Given the description of an element on the screen output the (x, y) to click on. 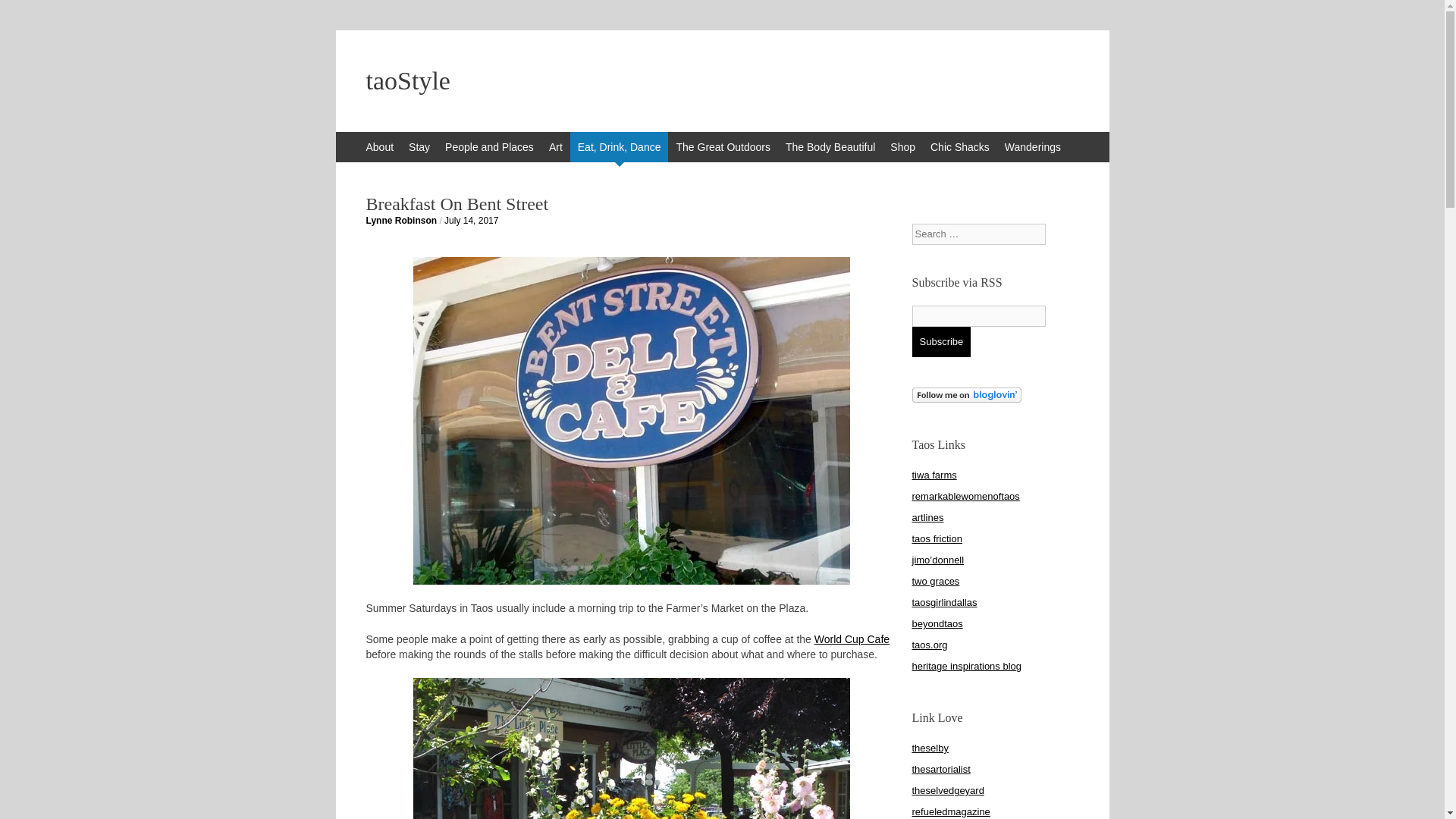
Art (555, 146)
Subscribe (941, 341)
People and Places (489, 146)
taoStyle (721, 80)
Eat, Drink, Dance (619, 146)
July 14, 2017 (470, 220)
Chic Shacks (960, 146)
The Great Outdoors (722, 146)
Wanderings (1032, 146)
World Cup Cafe (851, 638)
taoStyle (721, 80)
tiwa farms (933, 474)
Lynne Robinson (400, 220)
The Body Beautiful (829, 146)
artlines (927, 517)
